Given the description of an element on the screen output the (x, y) to click on. 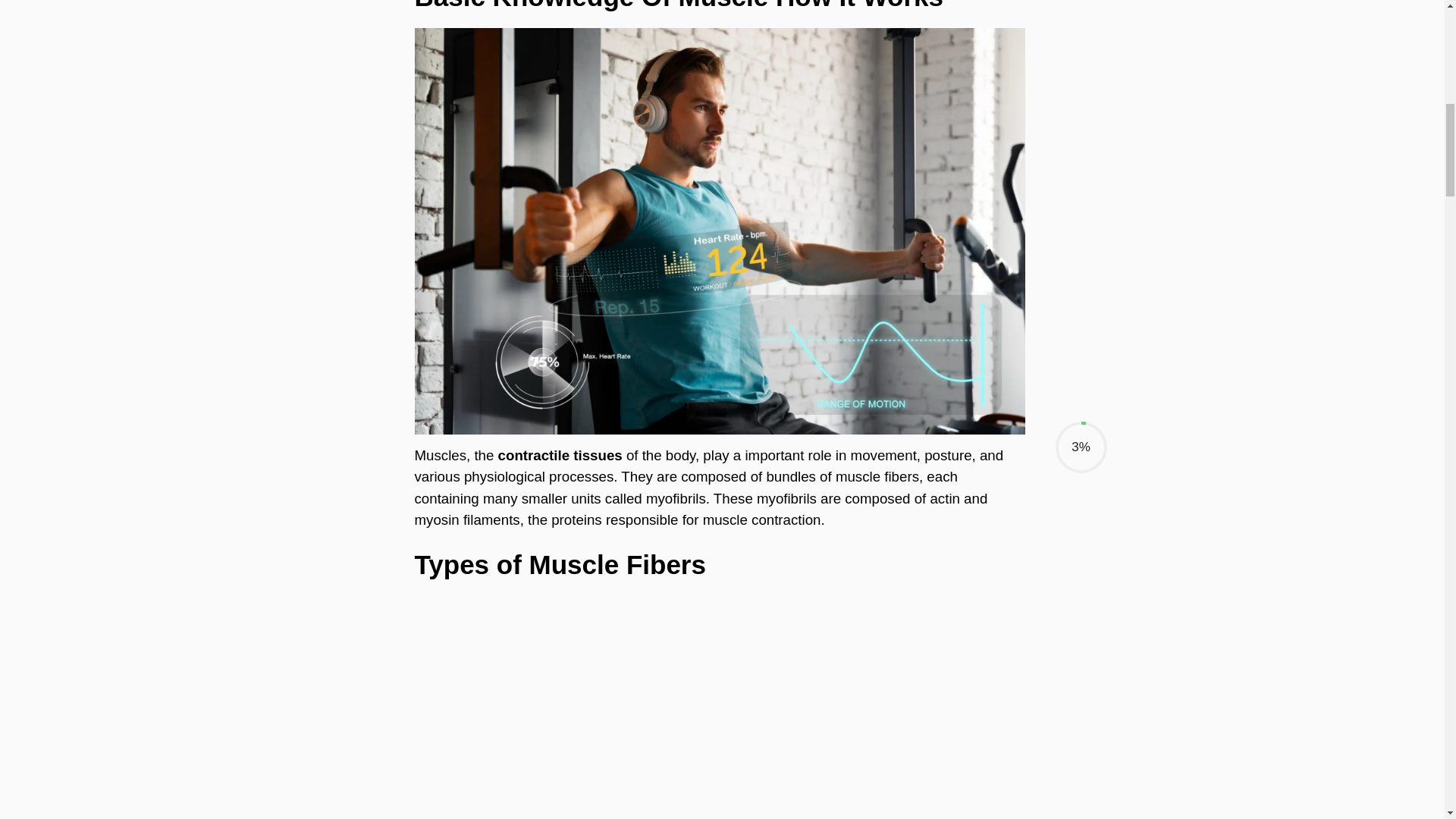
Scroll back to top (1406, 720)
